Given the description of an element on the screen output the (x, y) to click on. 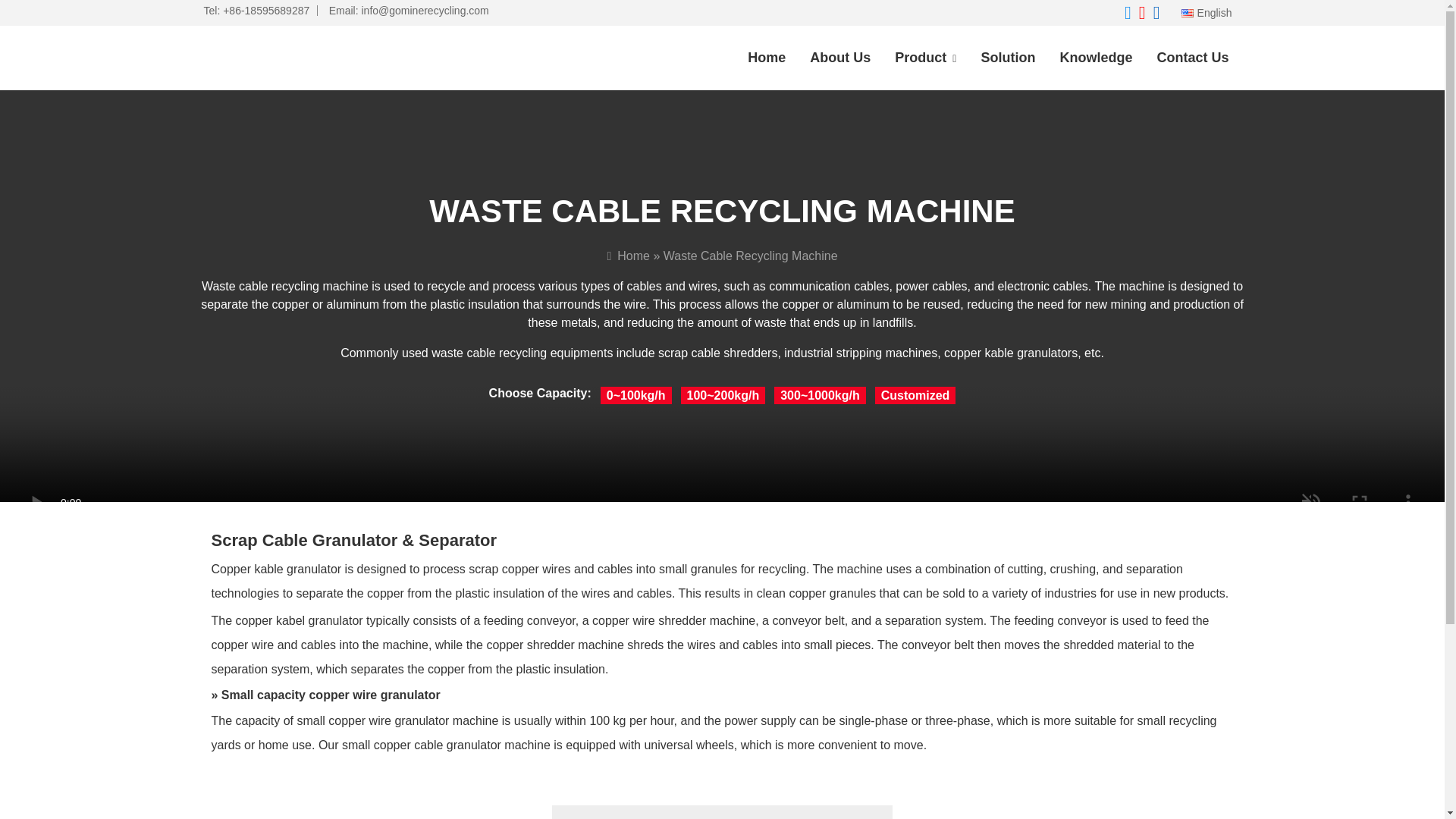
English (1206, 13)
Product (925, 57)
Home (766, 57)
About Us (839, 57)
